Given the description of an element on the screen output the (x, y) to click on. 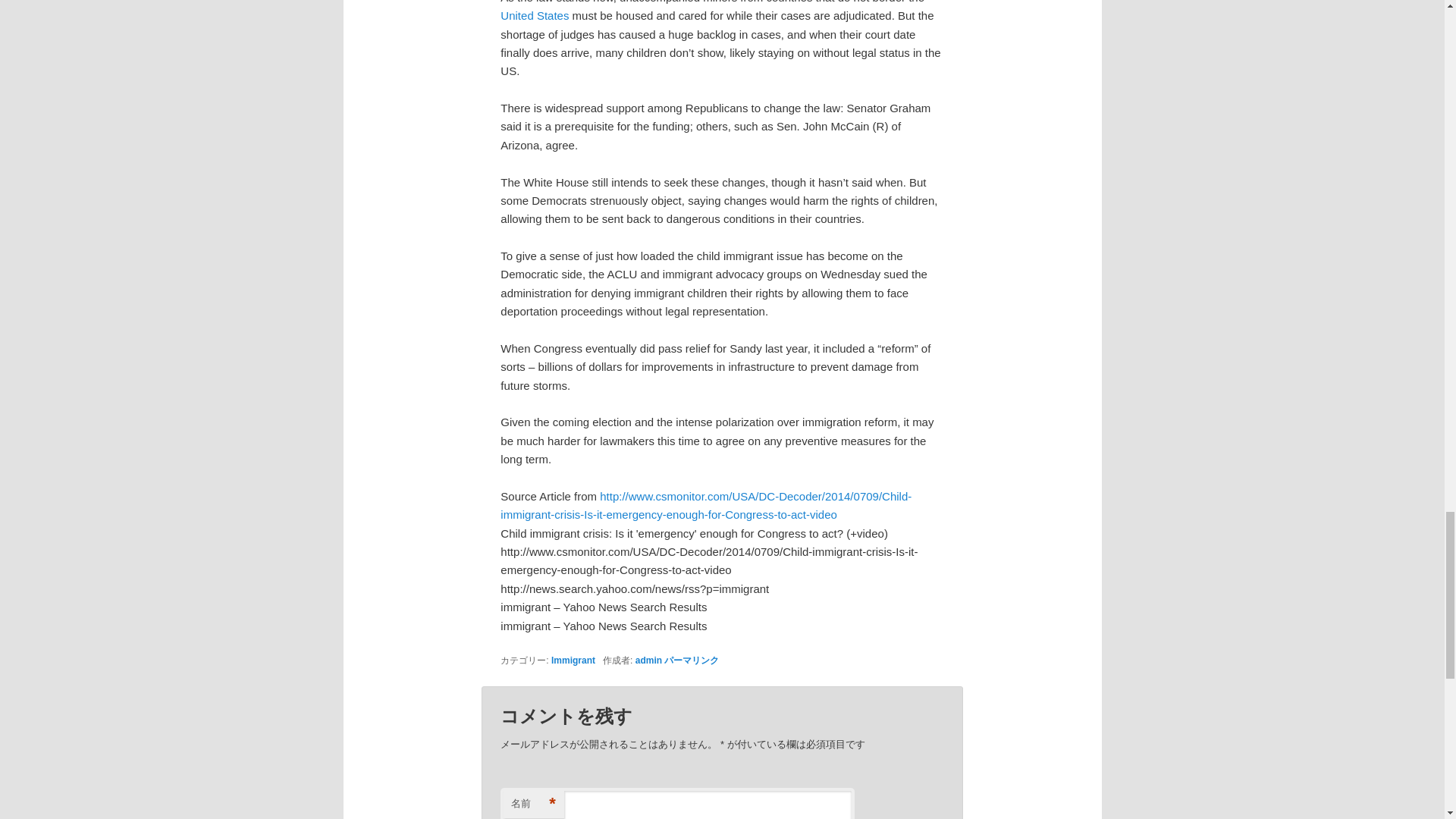
admin (648, 660)
United States (534, 15)
Immigrant (573, 660)
